Given the description of an element on the screen output the (x, y) to click on. 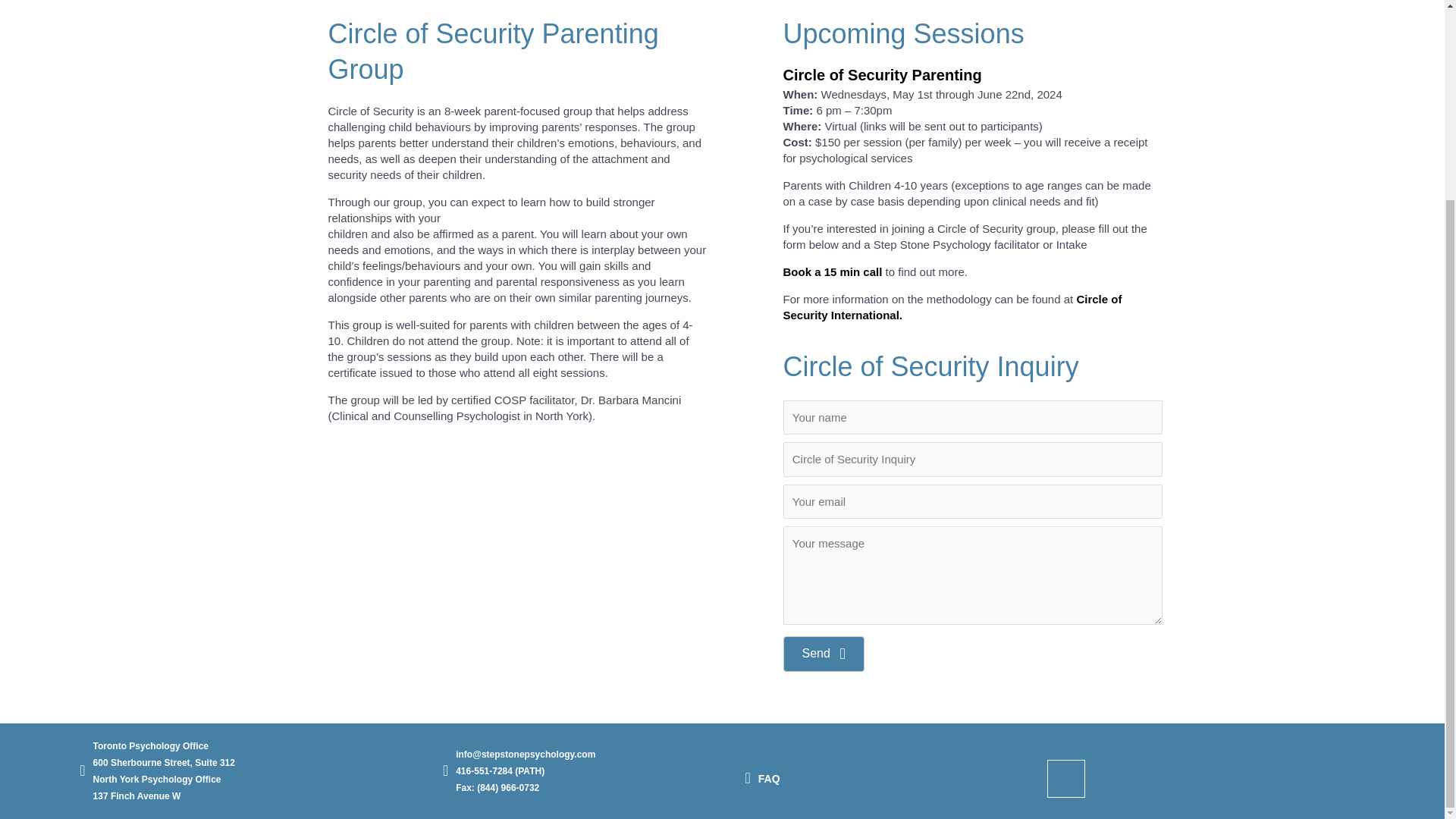
Circle of Security International. (952, 306)
Book a 15 min call (832, 271)
Send (823, 653)
FAQ (769, 778)
Step Stone pride flag small (1065, 778)
